Given the description of an element on the screen output the (x, y) to click on. 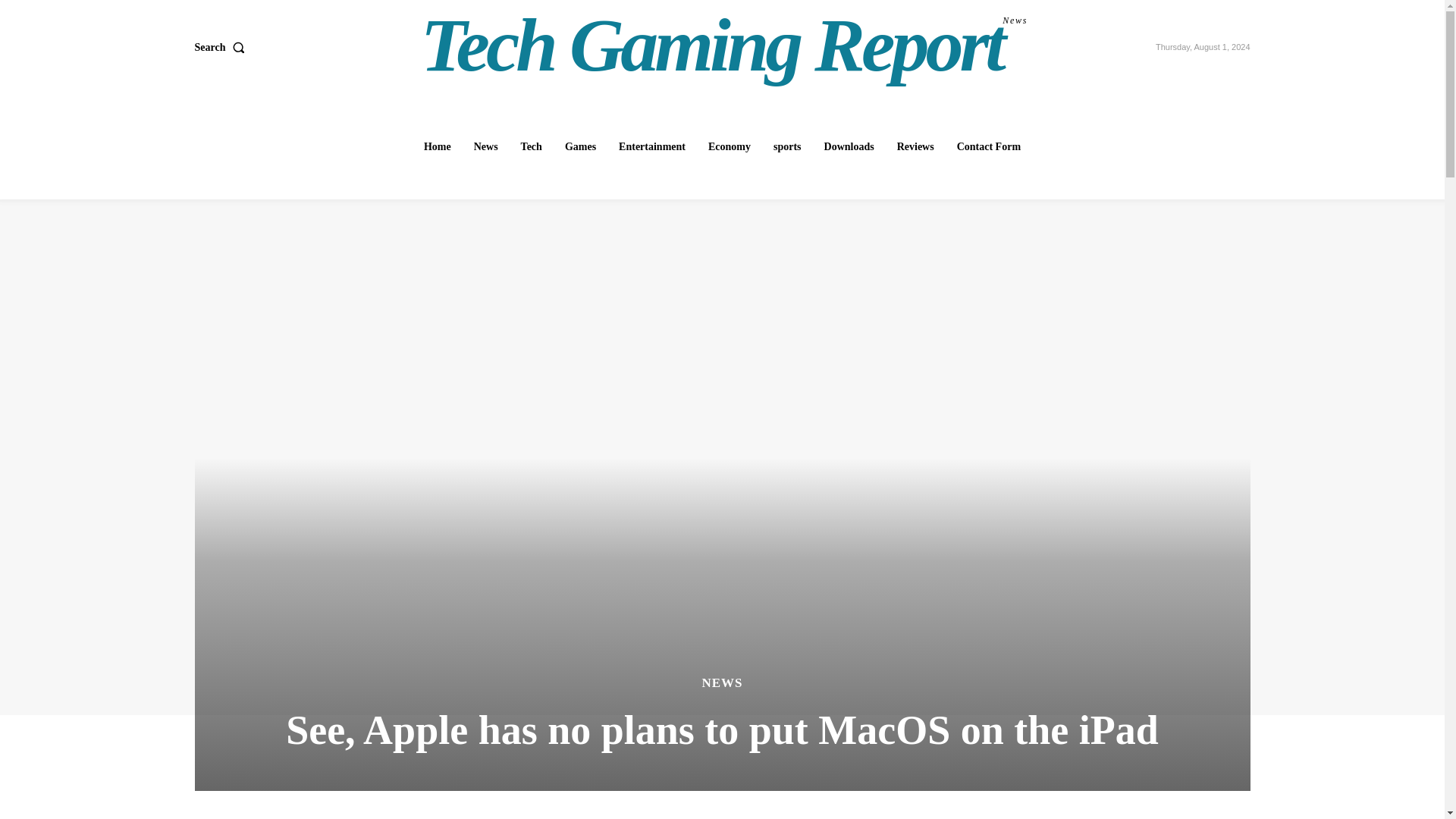
Economy (729, 146)
Search (221, 47)
Entertainment (724, 45)
Games (652, 146)
News (580, 146)
Downloads (485, 146)
sports (849, 146)
Reviews (787, 146)
Tech (915, 146)
Contact Form (531, 146)
Home (988, 146)
